Given the description of an element on the screen output the (x, y) to click on. 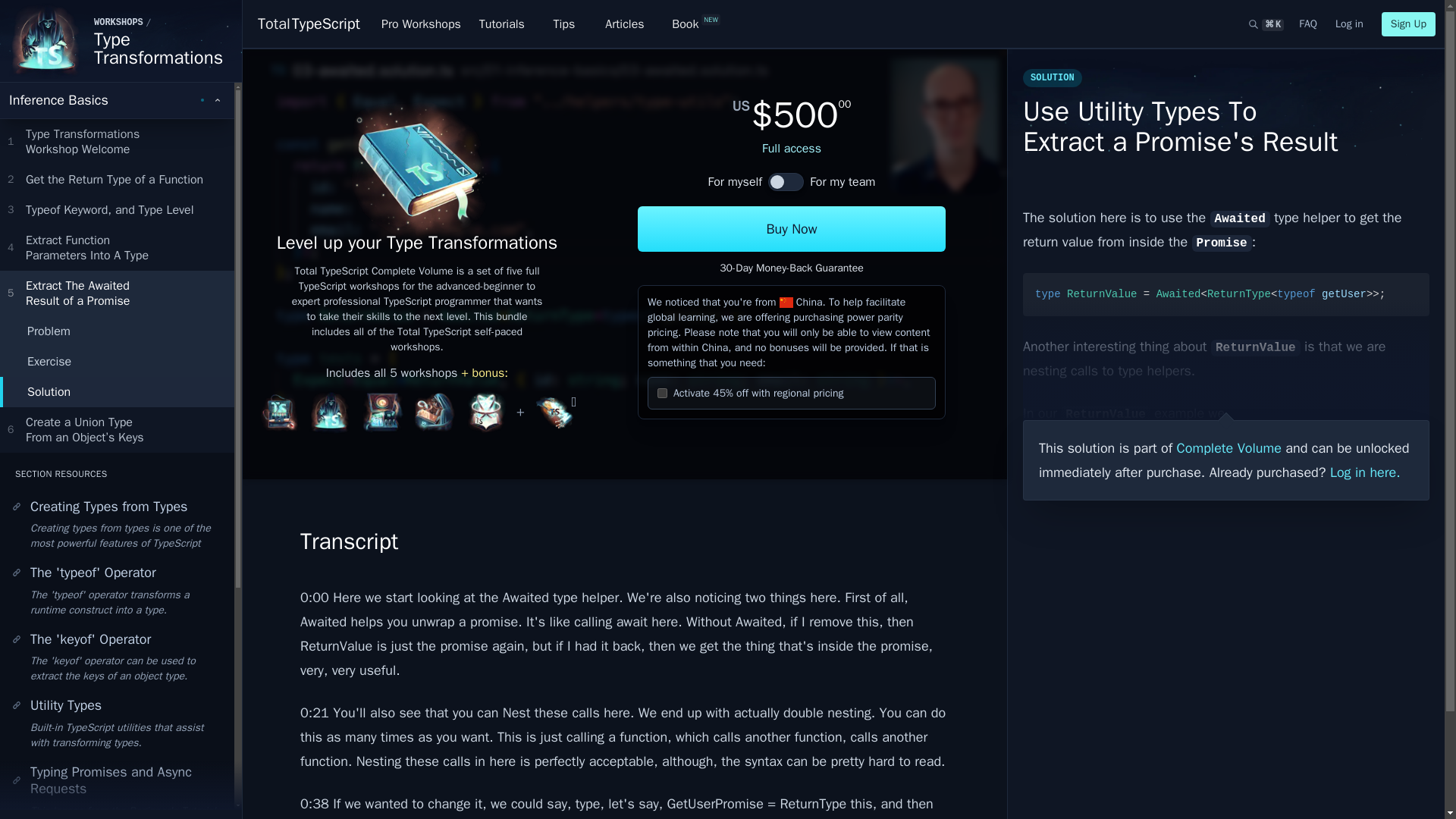
WORKSHOPS (118, 22)
Utility Types (117, 140)
Tips (117, 705)
Sign Up (308, 23)
Exercise (564, 23)
Inference Basics (1408, 24)
Problem (117, 360)
Pro Workshops (117, 100)
The 'typeof' Operator (117, 330)
